Given the description of an element on the screen output the (x, y) to click on. 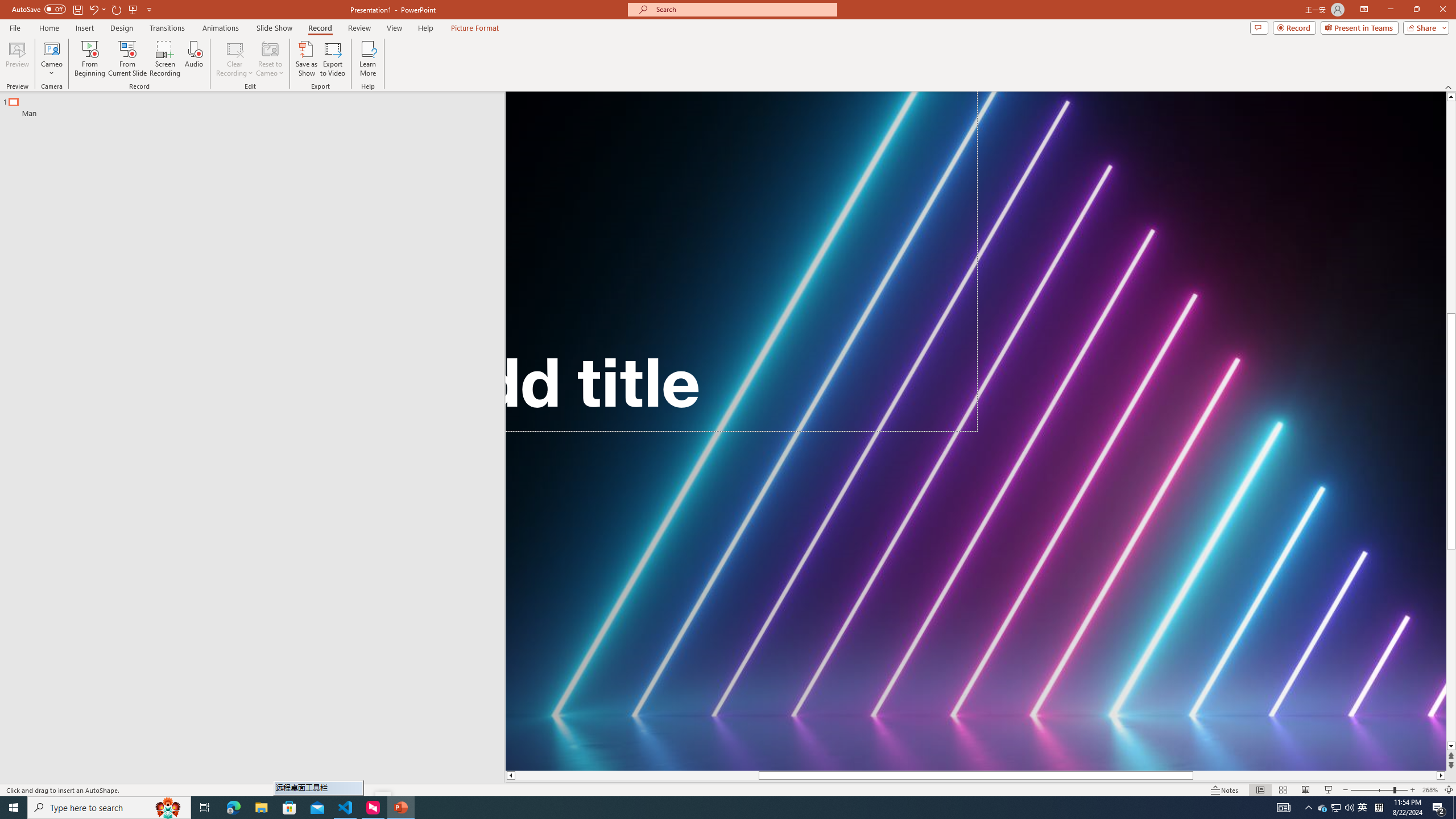
Clear Recording (234, 58)
Learn More (368, 58)
From Beginning... (89, 58)
Reset to Cameo (269, 58)
Outline (256, 104)
